Given the description of an element on the screen output the (x, y) to click on. 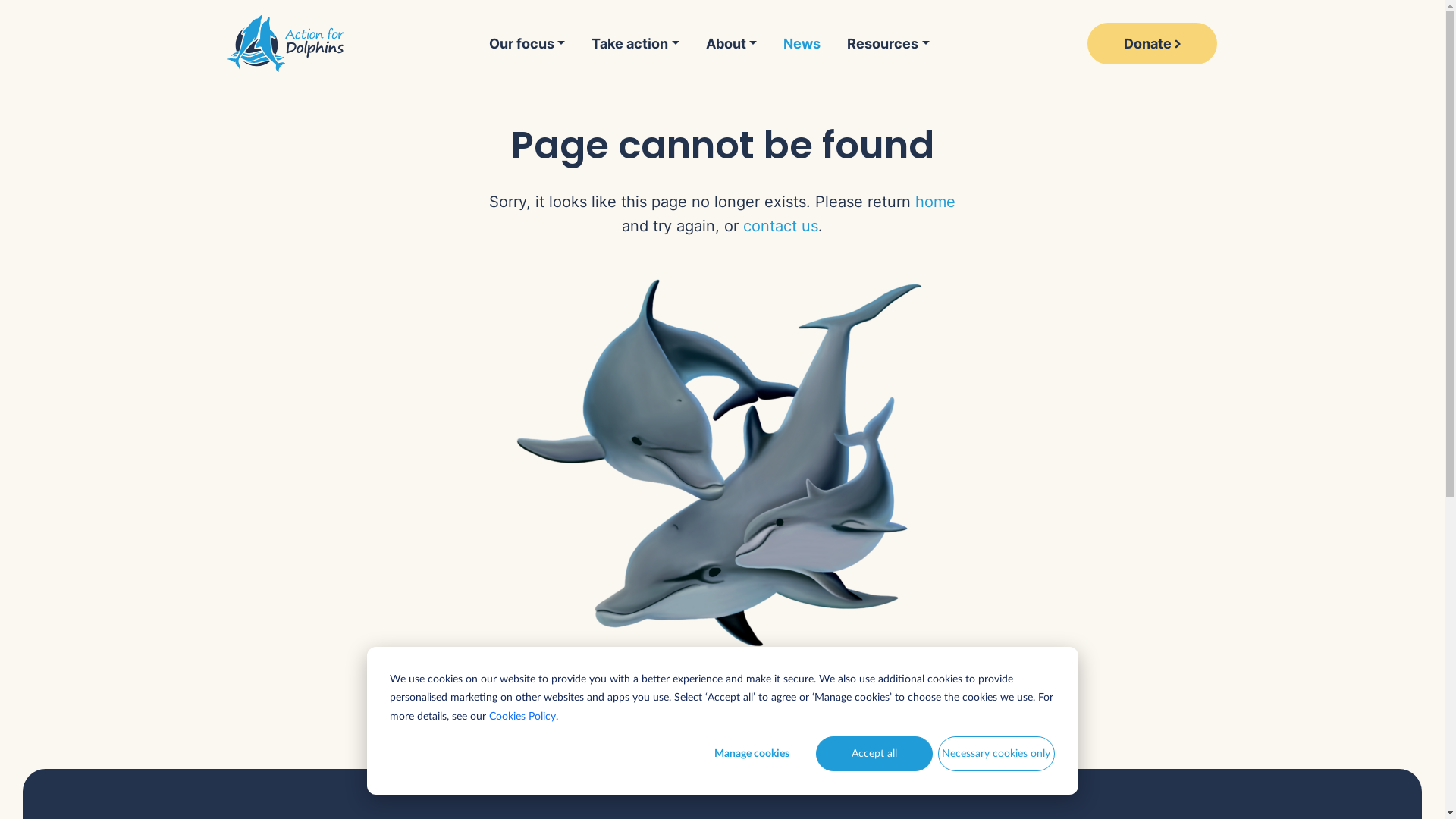
home Element type: text (935, 201)
News Element type: text (802, 43)
About Element type: text (731, 43)
Accept all Element type: text (873, 753)
Necessary cookies only Element type: text (996, 753)
Take action Element type: text (635, 43)
Cookies Policy Element type: text (522, 716)
Donate Element type: text (1152, 43)
Manage cookies Element type: text (751, 753)
contact us Element type: text (780, 225)
Resources Element type: text (888, 43)
Our focus Element type: text (533, 43)
